Given the description of an element on the screen output the (x, y) to click on. 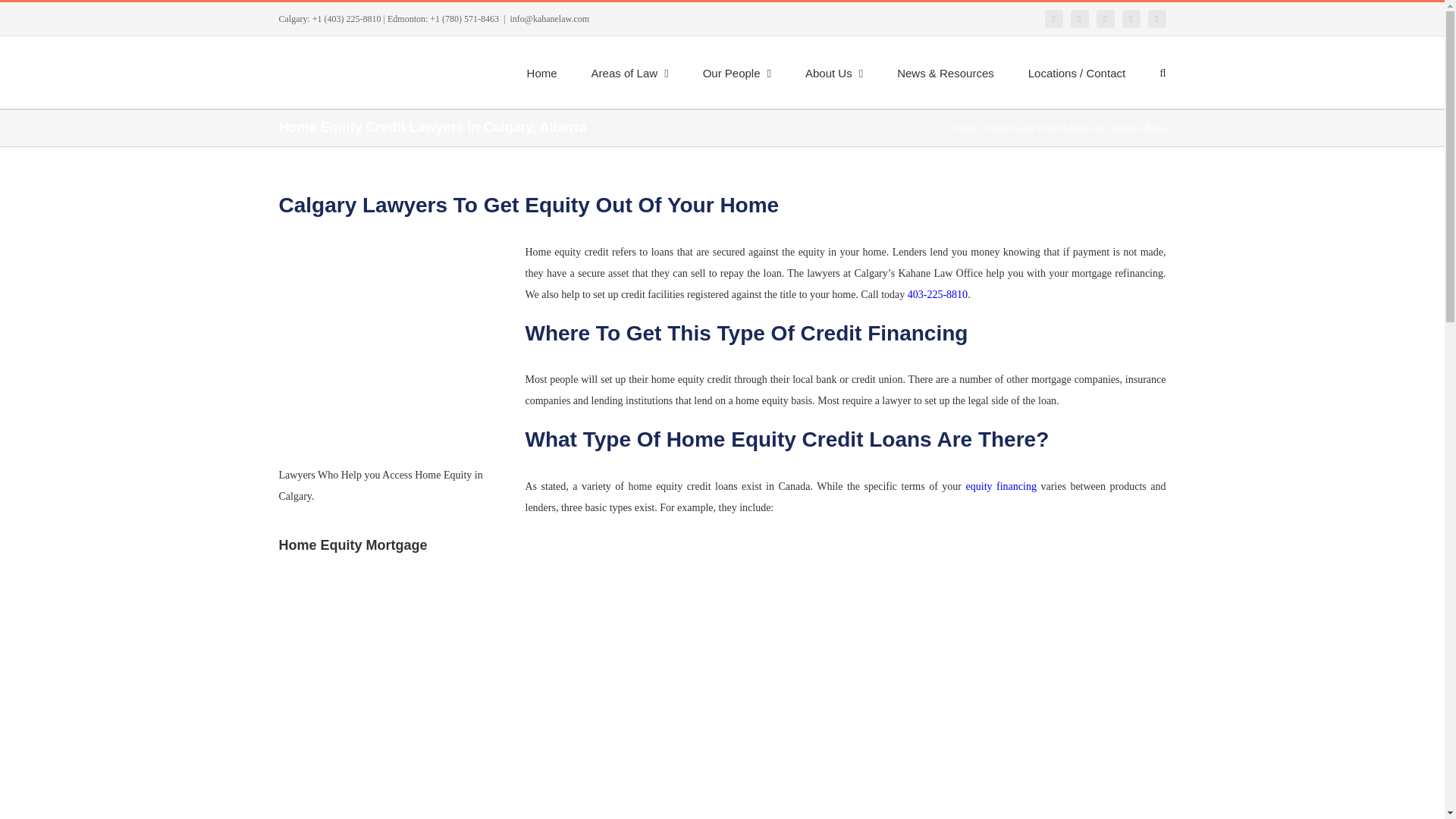
Facebook (1053, 18)
Instagram (1157, 18)
YouTube (1131, 18)
X (1079, 18)
LinkedIn (1105, 18)
YouTube (1131, 18)
LinkedIn (1105, 18)
BDC on equity financing (1001, 486)
Facebook (1053, 18)
mortgage help (937, 294)
